Given the description of an element on the screen output the (x, y) to click on. 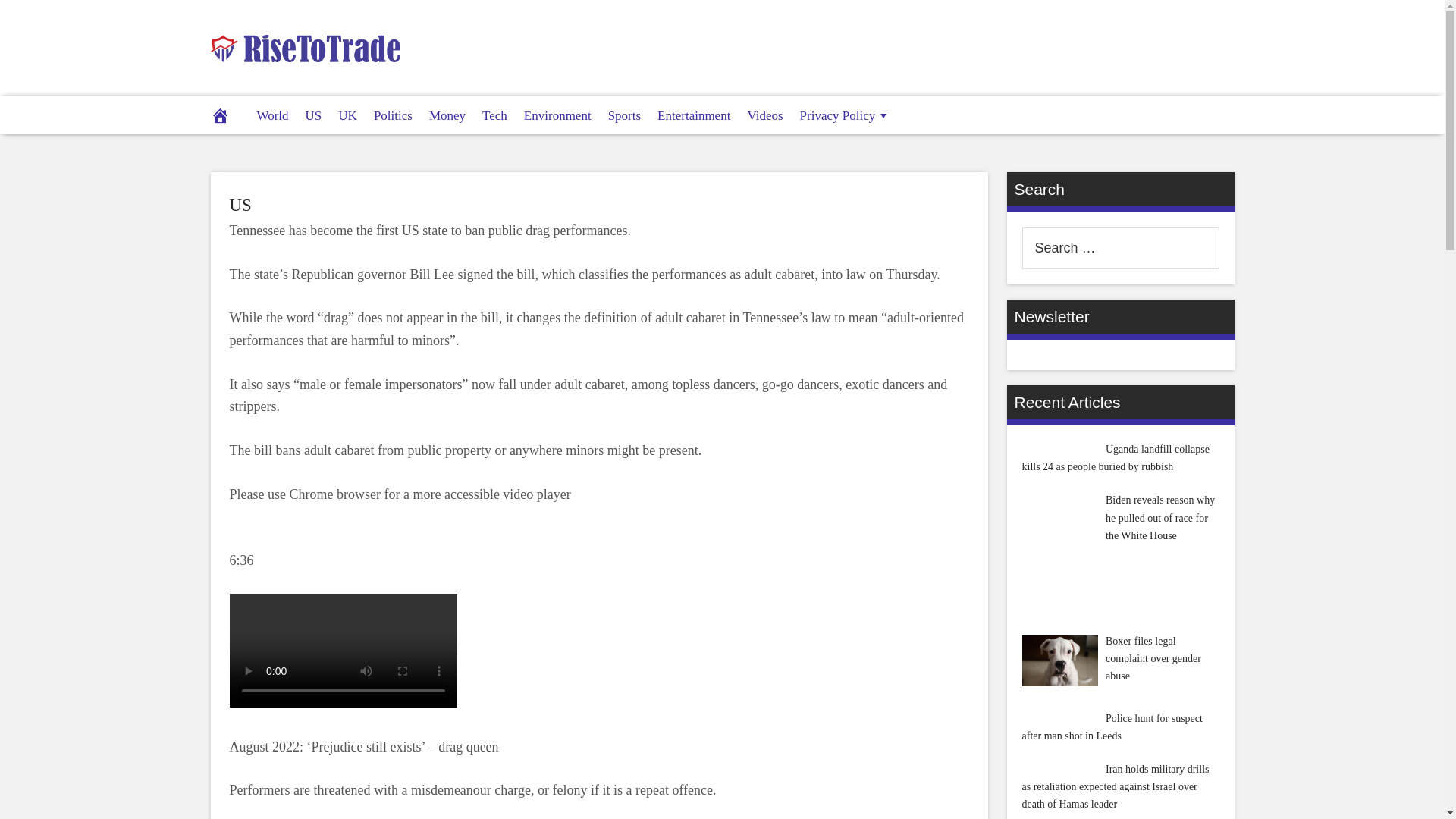
UK (347, 115)
Politics (392, 115)
Environment (557, 115)
Videos (764, 115)
US (239, 204)
Privacy Policy (845, 115)
Entertainment (693, 115)
Tech (494, 115)
Sports (624, 115)
